Given the description of an element on the screen output the (x, y) to click on. 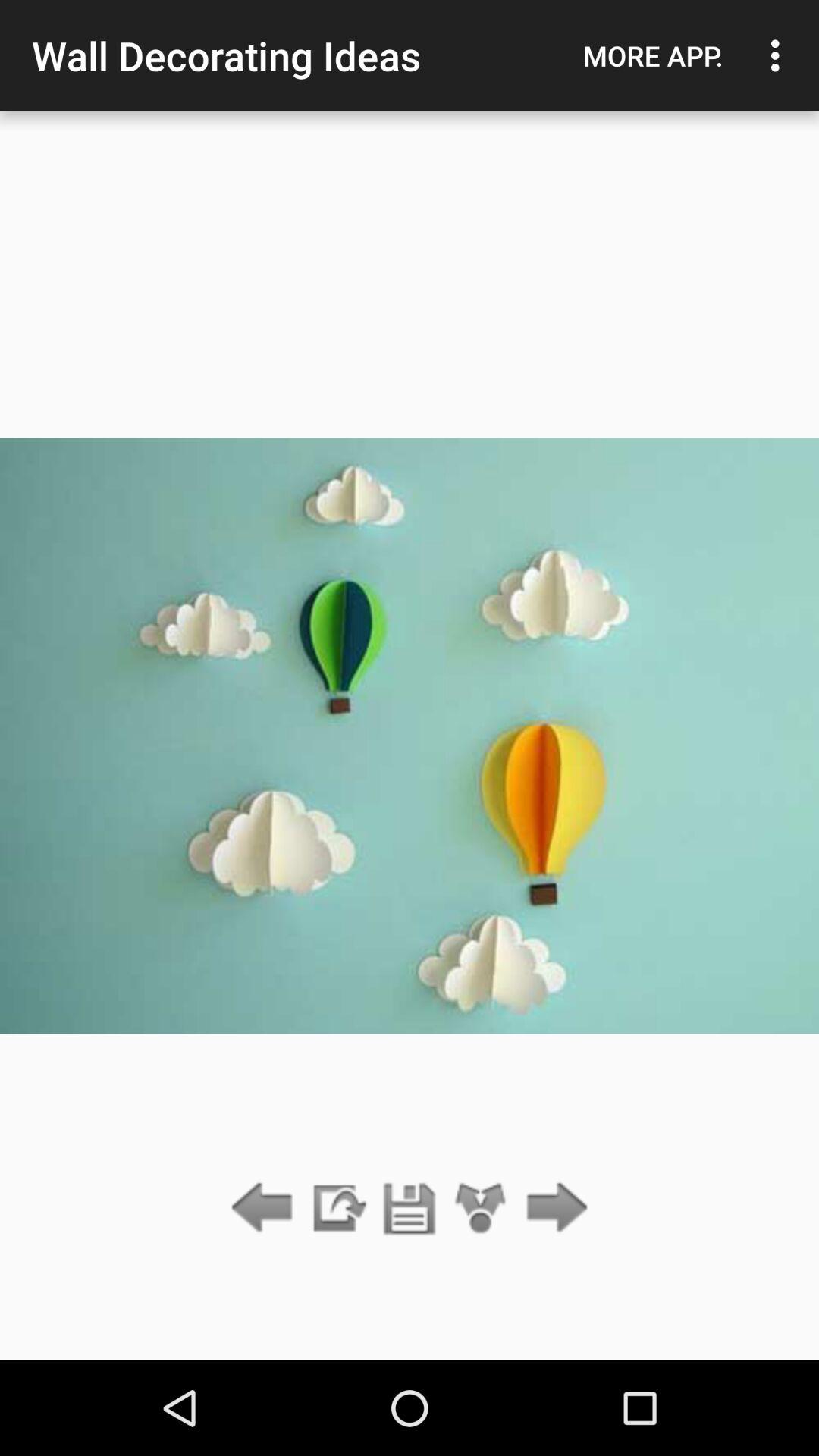
jump to more app. item (653, 55)
